Given the description of an element on the screen output the (x, y) to click on. 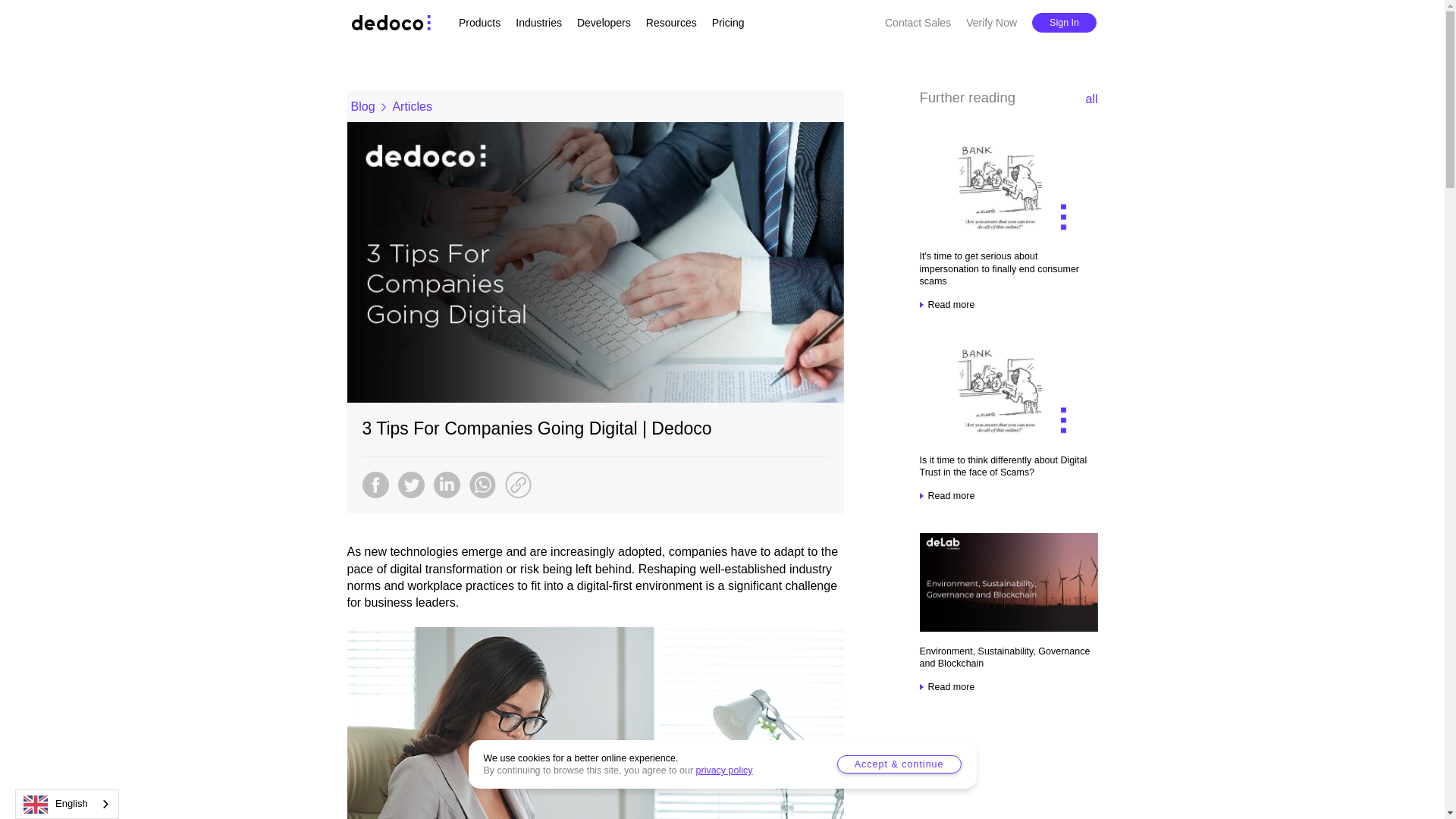
Developers (603, 22)
Share on Whatsapp (481, 484)
privacy policy (723, 769)
Pricing (727, 22)
Verify Now (991, 22)
Industries (538, 22)
Share on Facebook (375, 484)
Resources (671, 22)
Tweet (410, 484)
Contact Sales (917, 22)
Products (479, 22)
Share on LinkedIn (446, 484)
